Given the description of an element on the screen output the (x, y) to click on. 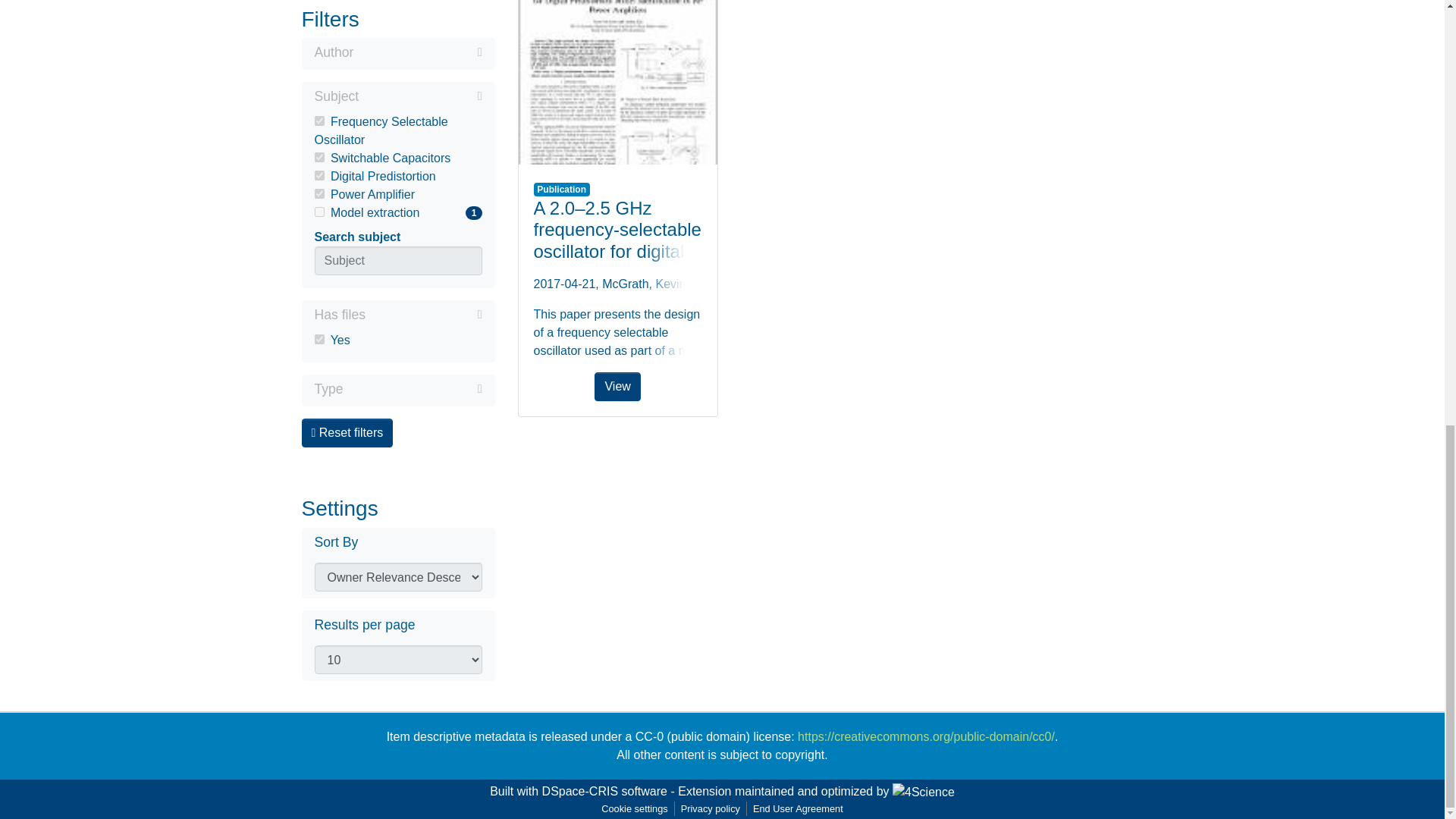
on (318, 175)
Switchable Capacitors (397, 158)
on (318, 338)
on (318, 157)
Frequency Selectable Oscillator (397, 131)
on (318, 212)
View (617, 82)
Expand filter (417, 52)
Author (397, 54)
Collapse filter (423, 314)
Power Amplifier (397, 194)
Collapse filter (419, 95)
Expand filter (397, 212)
on (412, 389)
